Given the description of an element on the screen output the (x, y) to click on. 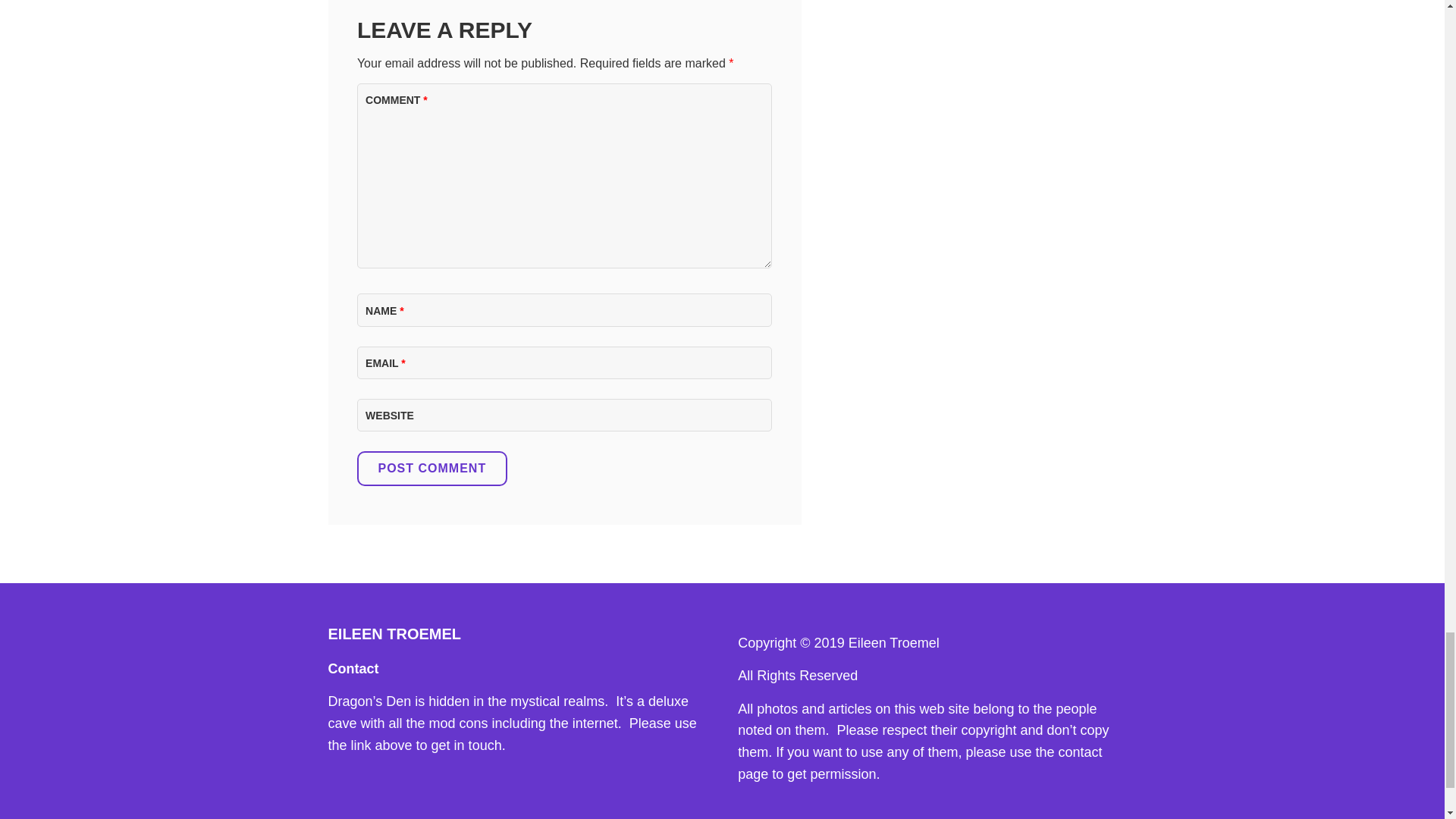
Post Comment (431, 468)
